Given the description of an element on the screen output the (x, y) to click on. 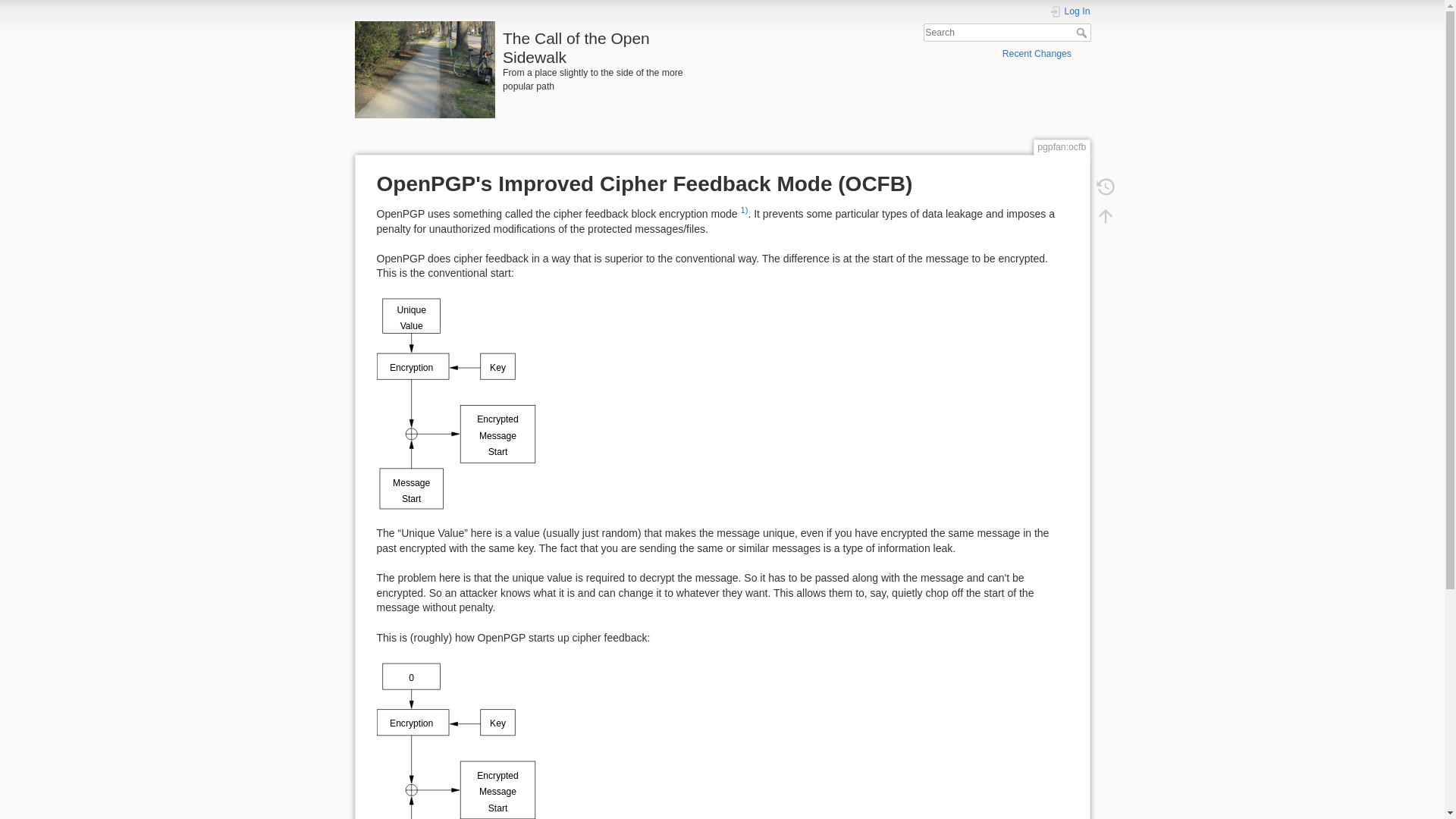
Log In Element type: text (1069, 11)
Old revisions [o] Element type: hover (1104, 186)
[F] Element type: hover (1007, 32)
1) Element type: text (743, 209)
Search Element type: text (1082, 32)
pgpfan:cfb.svg Element type: hover (456, 402)
Back to top [t] Element type: hover (1104, 214)
The Call of the Open Sidewalk Element type: text (534, 43)
Recent Changes Element type: text (1036, 53)
pgpfan:ocfb.svg Element type: hover (456, 759)
